Given the description of an element on the screen output the (x, y) to click on. 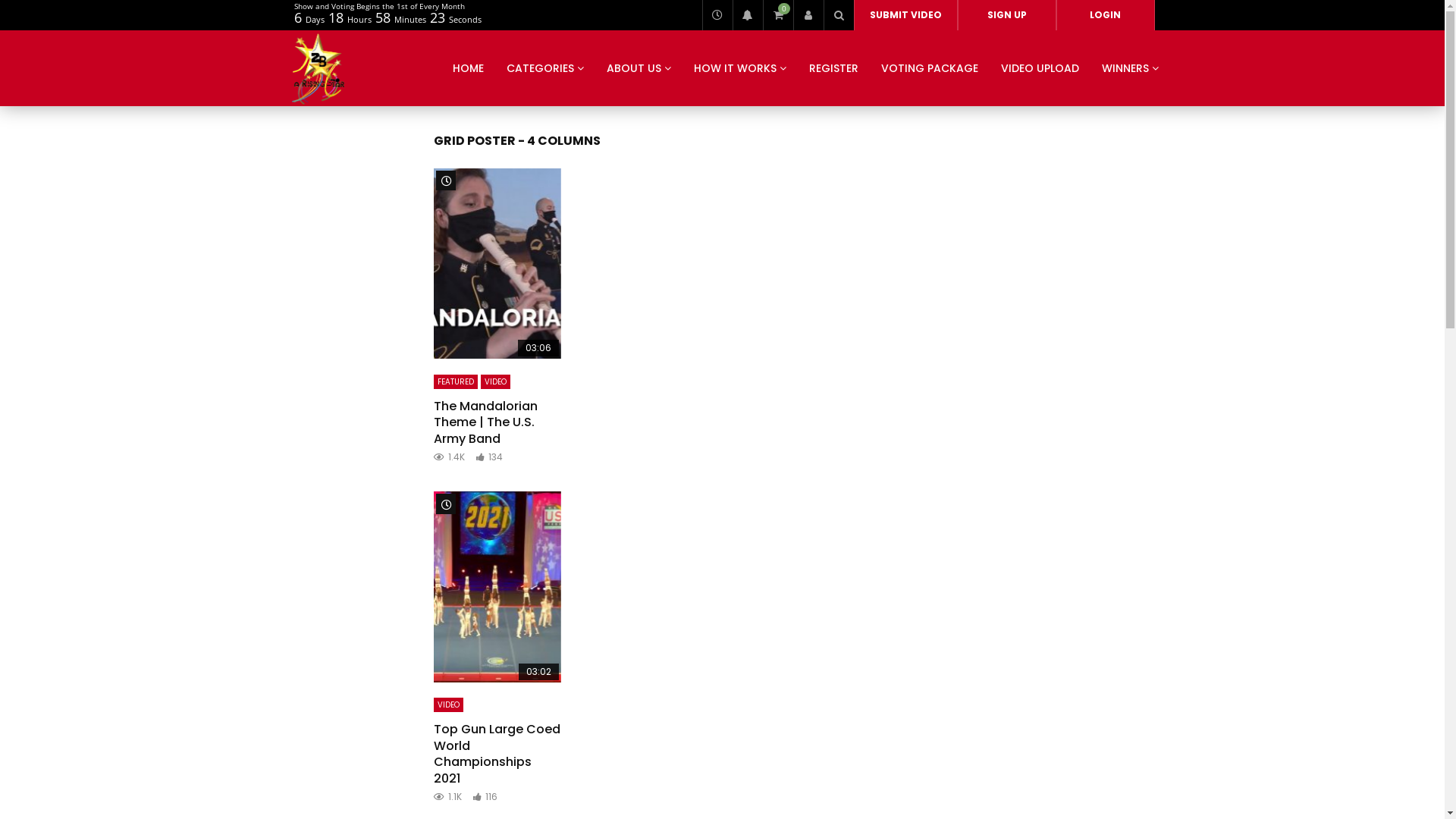
ABOUT US Element type: text (637, 68)
LOGIN Element type: text (1104, 15)
VIDEO Element type: text (448, 704)
SIGN UP Element type: text (1006, 15)
Search Element type: text (815, 45)
The Mandalorian Theme | The U.S. Army Band Element type: hover (496, 263)
The Mandalorian Theme | The U.S. Army Band Element type: text (485, 422)
2B A Rising Star Element type: hover (318, 68)
Search Element type: hover (838, 15)
Top Gun Large Coed World Championships 2021 Element type: text (496, 753)
Watch later Element type: hover (717, 15)
VIDEO UPLOAD Element type: text (1038, 68)
Notifications Element type: hover (747, 15)
Top Gun Large Coed World Championships 2021 Element type: hover (496, 586)
Login Element type: hover (808, 15)
HOW IT WORKS Element type: text (739, 68)
WINNERS Element type: text (1130, 68)
VOTING PACKAGE Element type: text (928, 68)
SUBMIT VIDEO Element type: text (905, 15)
HOME Element type: text (468, 68)
FEATURED Element type: text (455, 381)
CATEGORIES Element type: text (544, 68)
REGISTER Element type: text (833, 68)
VIDEO Element type: text (495, 381)
0 Element type: text (777, 15)
